Given the description of an element on the screen output the (x, y) to click on. 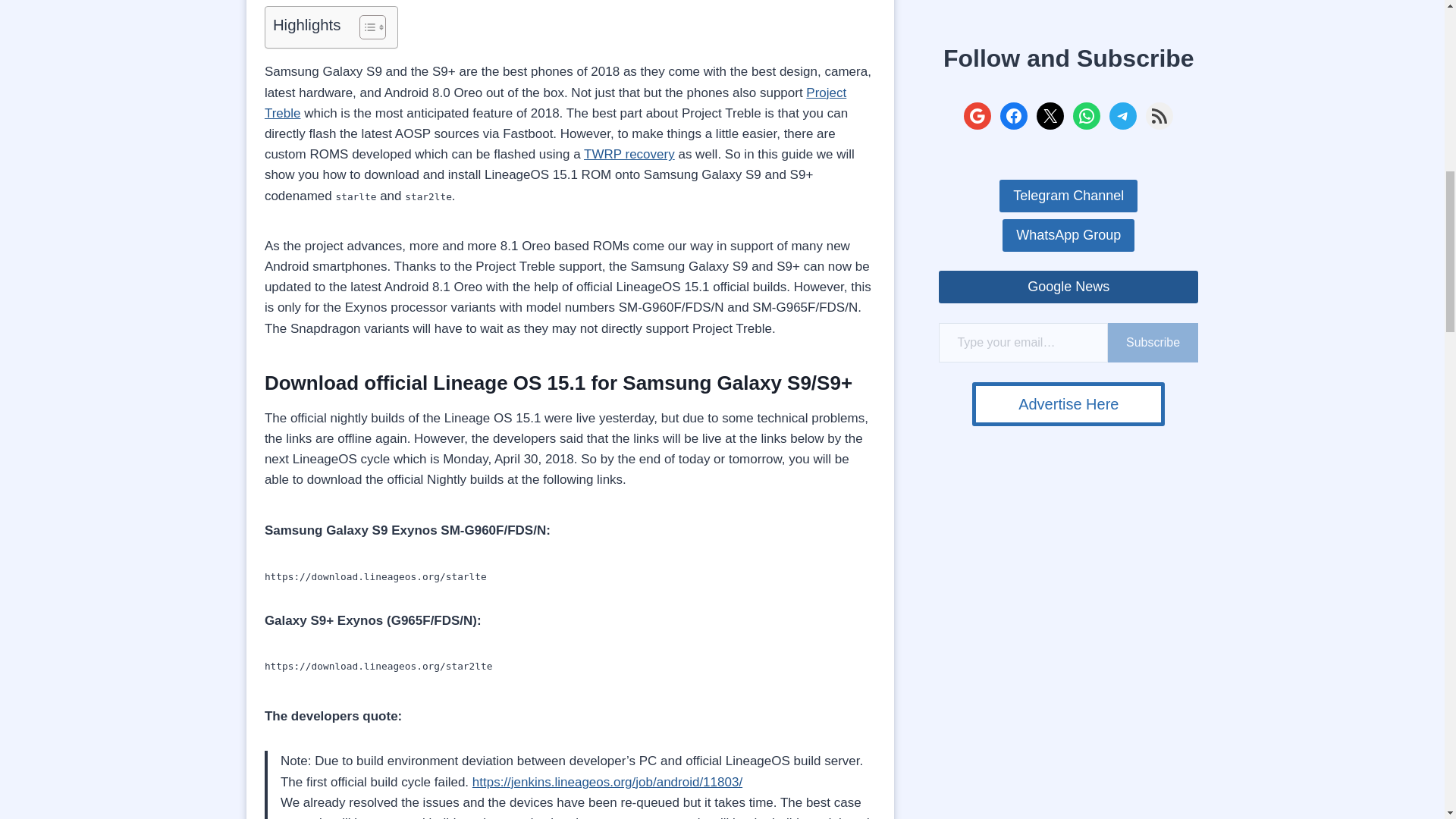
Project Treble (554, 102)
TWRP recovery (629, 154)
